Given the description of an element on the screen output the (x, y) to click on. 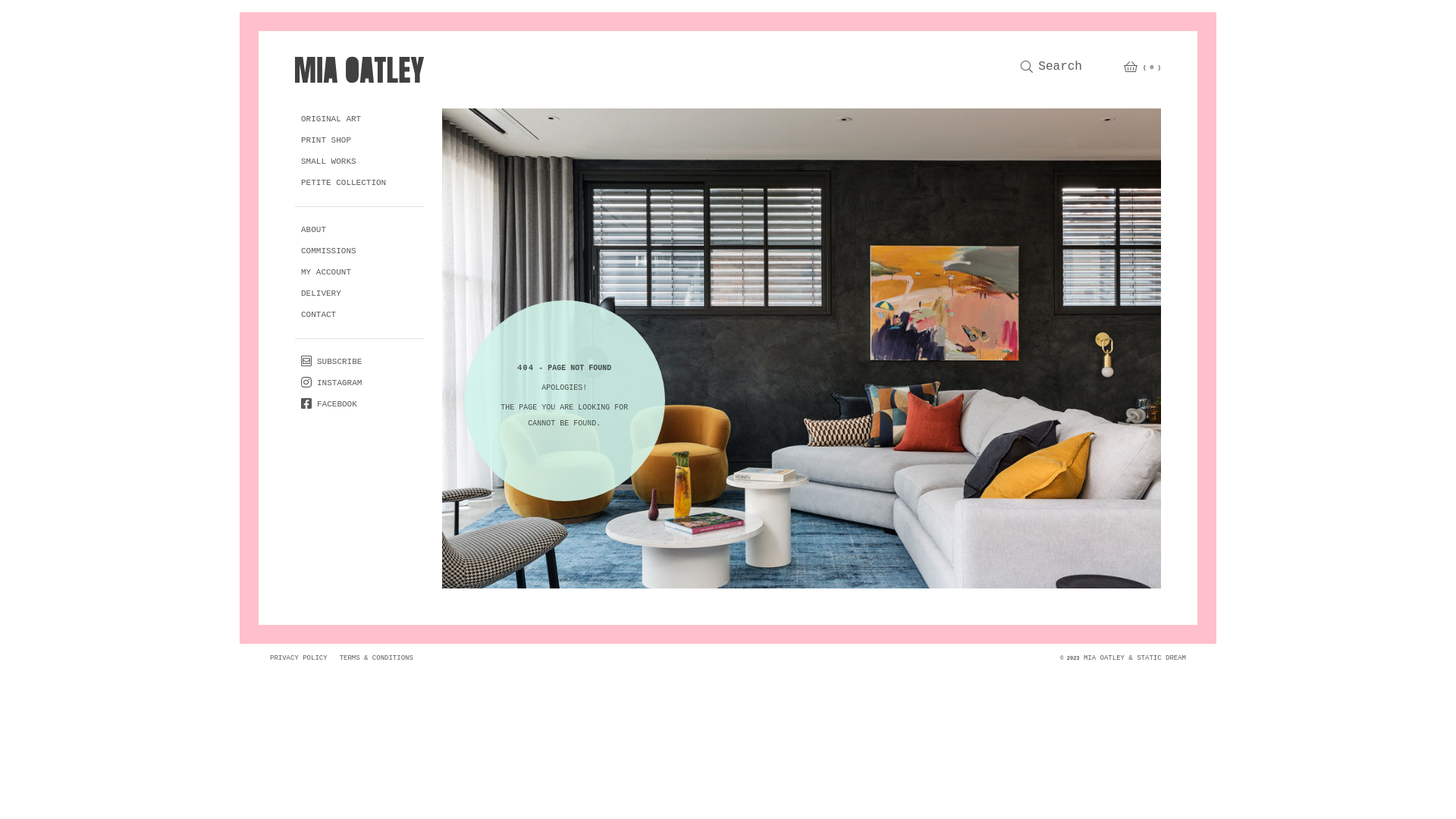
Commissions Element type: text (328, 250)
Static Dream Element type: text (1161, 656)
Delivery Element type: text (320, 293)
Facebook Element type: text (328, 404)
Petite Collection Element type: text (343, 183)
Privacy Policy Element type: text (298, 656)
Small Works Element type: text (328, 161)
Print Shop Element type: text (325, 140)
Subscribe Element type: text (330, 361)
Terms & Conditions Element type: text (376, 656)
My Account Element type: text (325, 272)
( 0
cart items
) Element type: text (1142, 66)
Contact Element type: text (318, 315)
Original Art Element type: text (330, 118)
Instagram Element type: text (330, 383)
About Element type: text (313, 229)
